Given the description of an element on the screen output the (x, y) to click on. 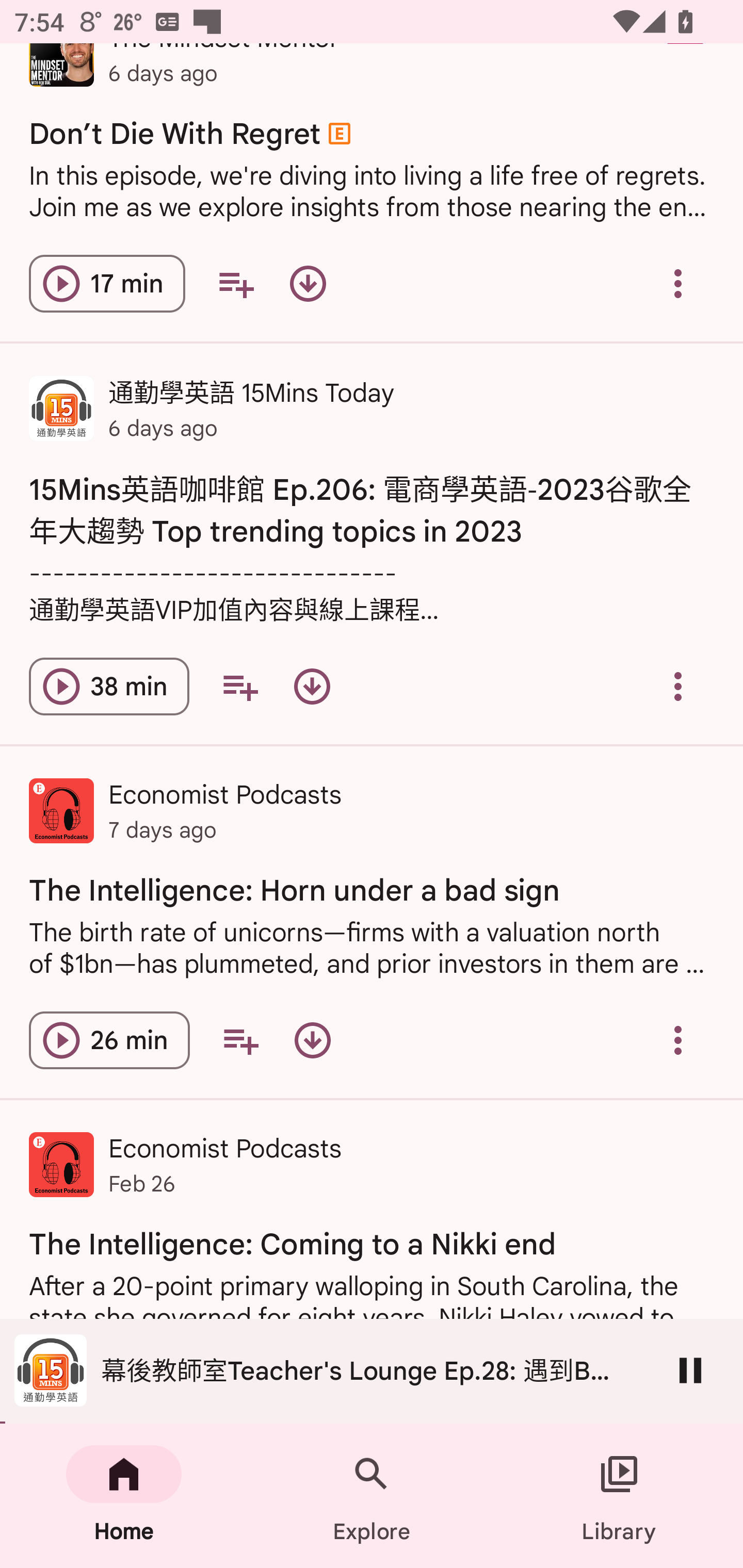
Play episode Don’t Die With Regret 17 min (106, 283)
Add to your queue (235, 283)
Download episode (307, 283)
Overflow menu (677, 283)
Add to your queue (239, 685)
Download episode (312, 685)
Overflow menu (677, 685)
Add to your queue (240, 1040)
Download episode (312, 1040)
Overflow menu (677, 1040)
Pause (690, 1370)
Explore (371, 1495)
Library (619, 1495)
